Given the description of an element on the screen output the (x, y) to click on. 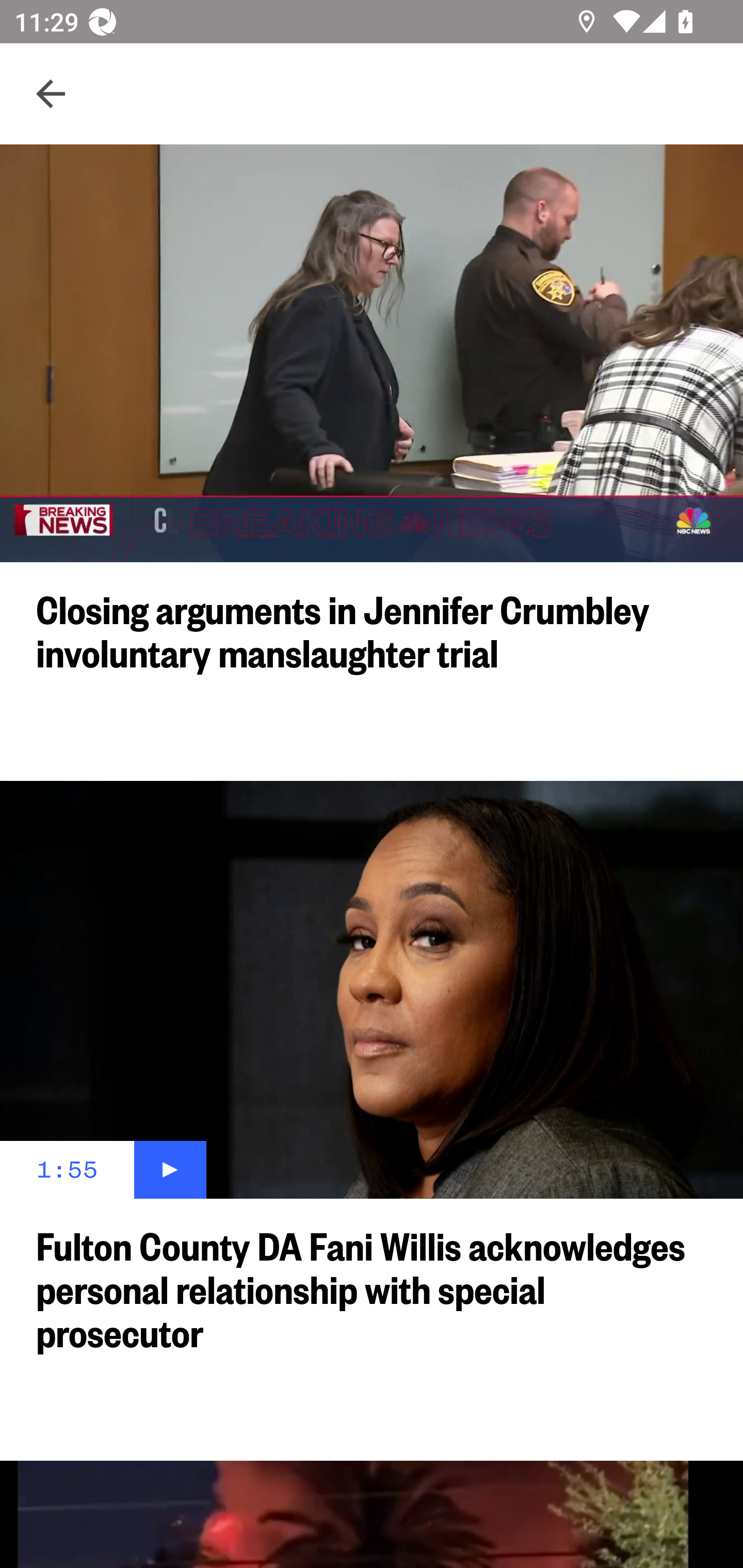
Navigate up (50, 93)
